Given the description of an element on the screen output the (x, y) to click on. 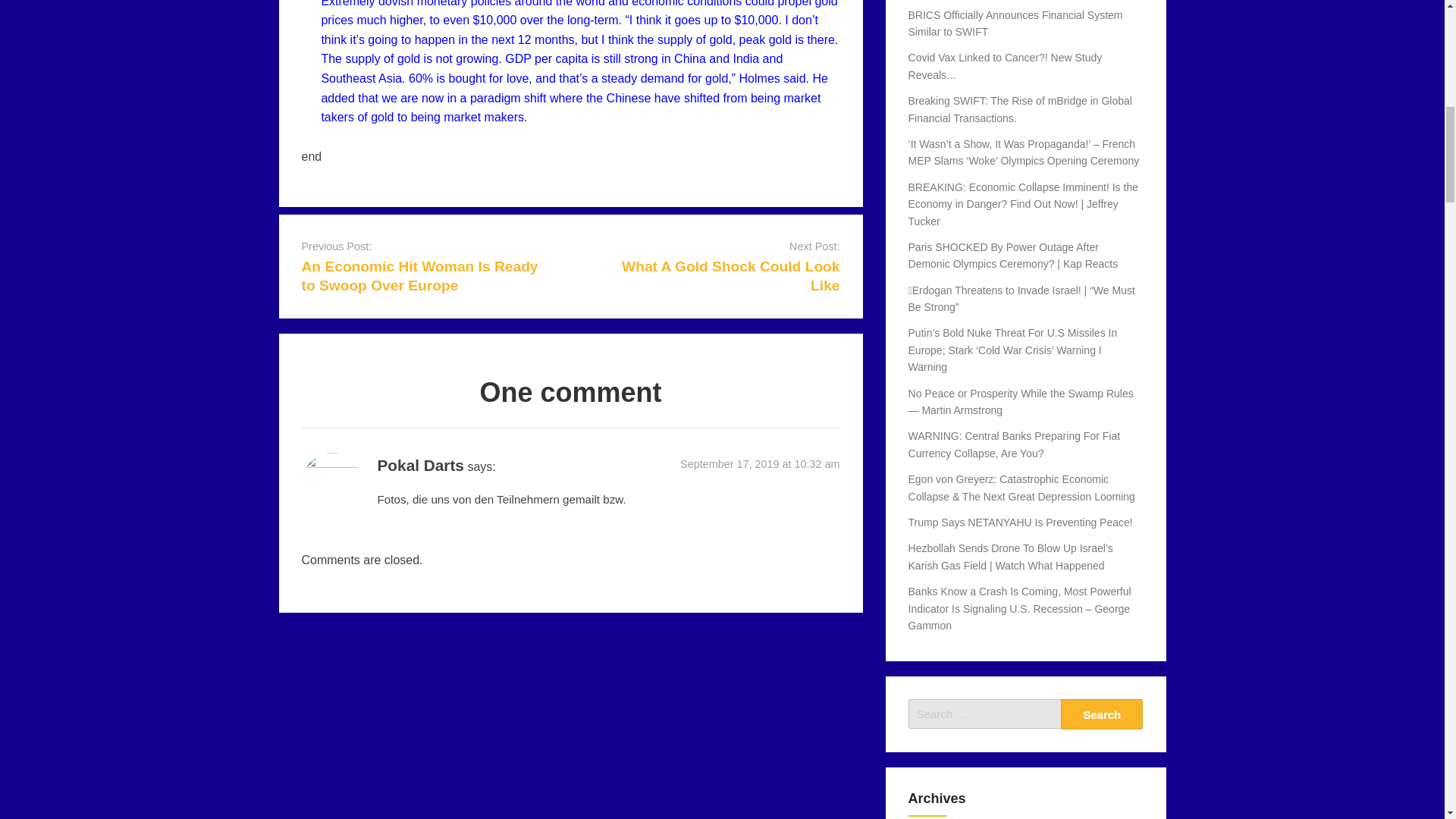
September 17, 2019 at 10:32 am (759, 463)
Search (1101, 714)
Trump Says NETANYAHU Is Preventing Peace! (1020, 522)
BRICS Officially Announces Financial System Similar to SWIFT (1015, 23)
What A Gold Shock Could Look Like (730, 275)
Search (1101, 714)
An Economic Hit Woman Is Ready to Swoop Over Europe (419, 275)
Search (1101, 714)
Pokal Darts (420, 465)
